Given the description of an element on the screen output the (x, y) to click on. 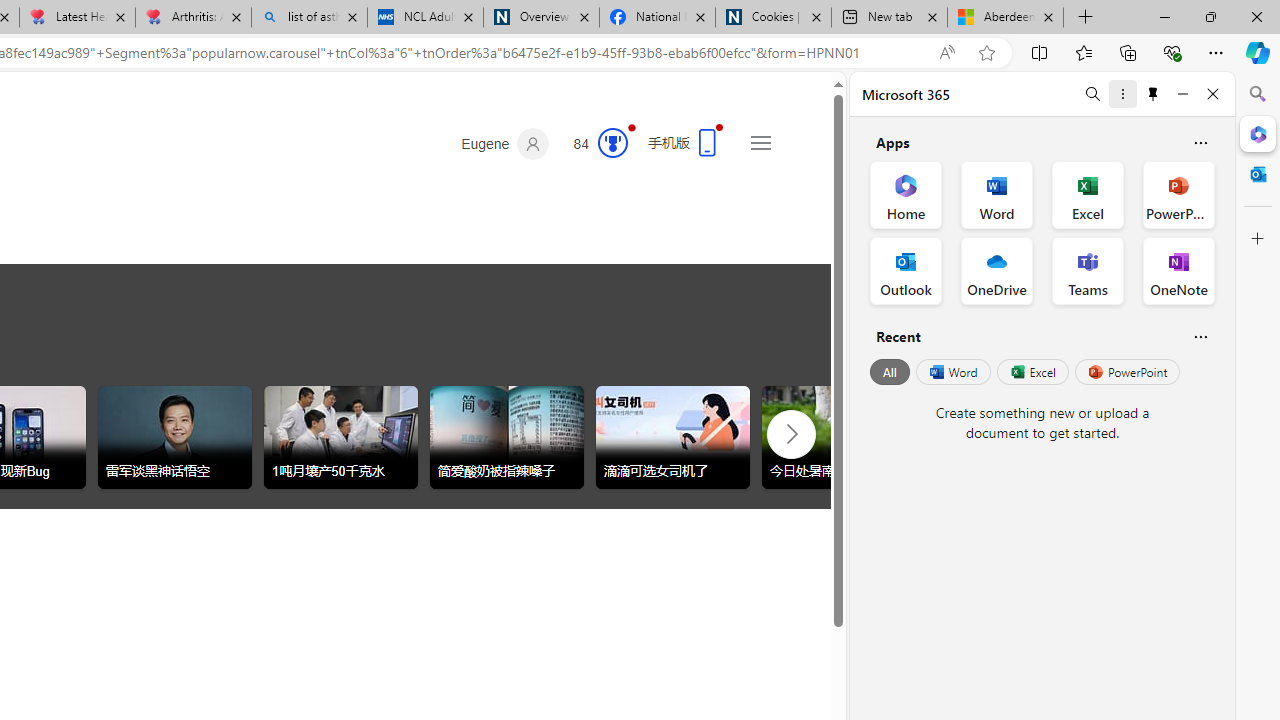
Excel (1031, 372)
Is this helpful? (1200, 336)
Microsoft Rewards 84 (594, 143)
list of asthma inhalers uk - Search (309, 17)
Word (952, 372)
AutomationID: serp_medal_svg (612, 142)
AutomationID: tob_right_arrow (791, 433)
Excel Office App (1087, 194)
